Given the description of an element on the screen output the (x, y) to click on. 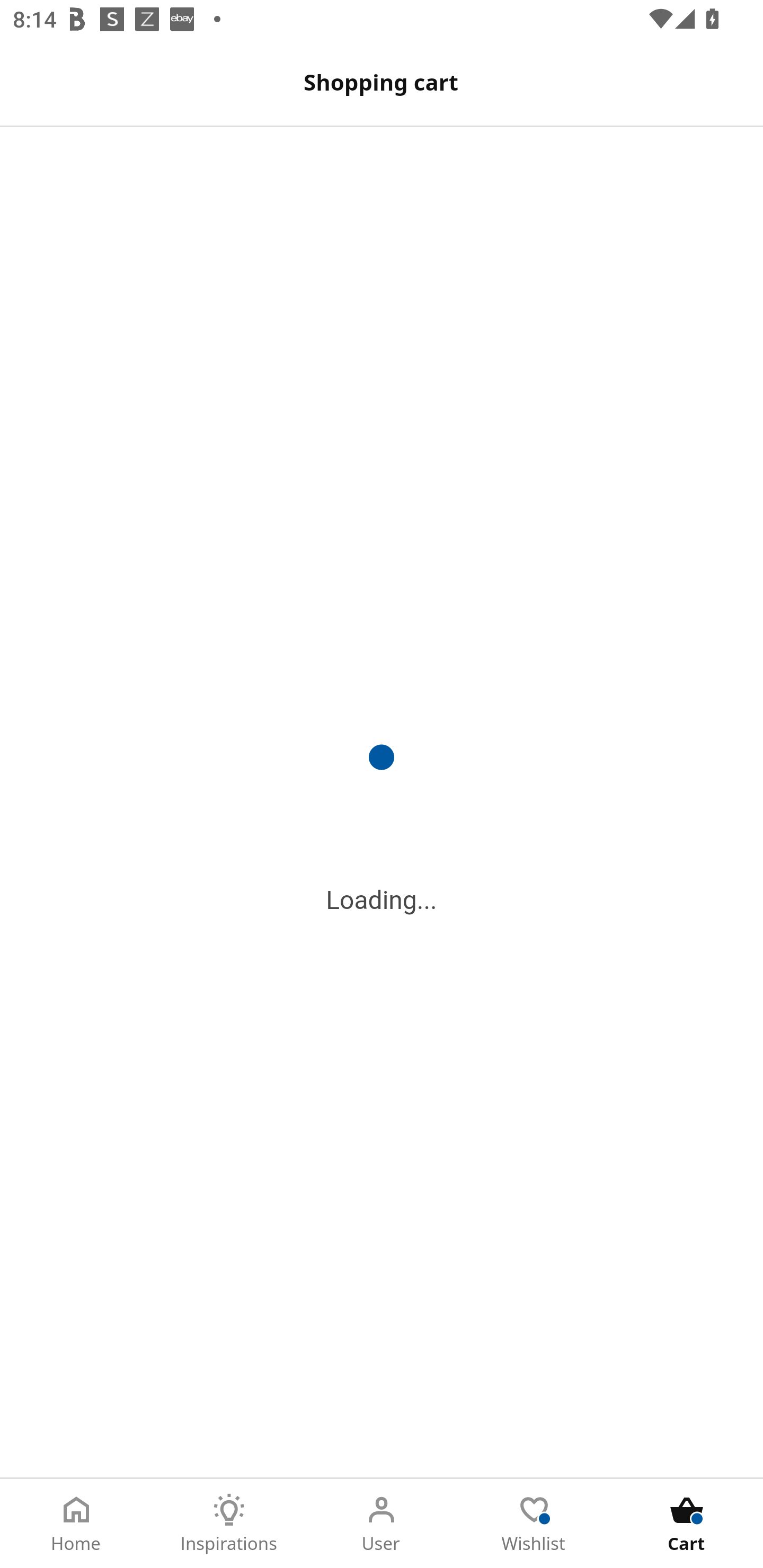
Home
Tab 1 of 5 (76, 1522)
Inspirations
Tab 2 of 5 (228, 1522)
User
Tab 3 of 5 (381, 1522)
Wishlist
Tab 4 of 5 (533, 1522)
Cart
Tab 5 of 5 (686, 1522)
